Given the description of an element on the screen output the (x, y) to click on. 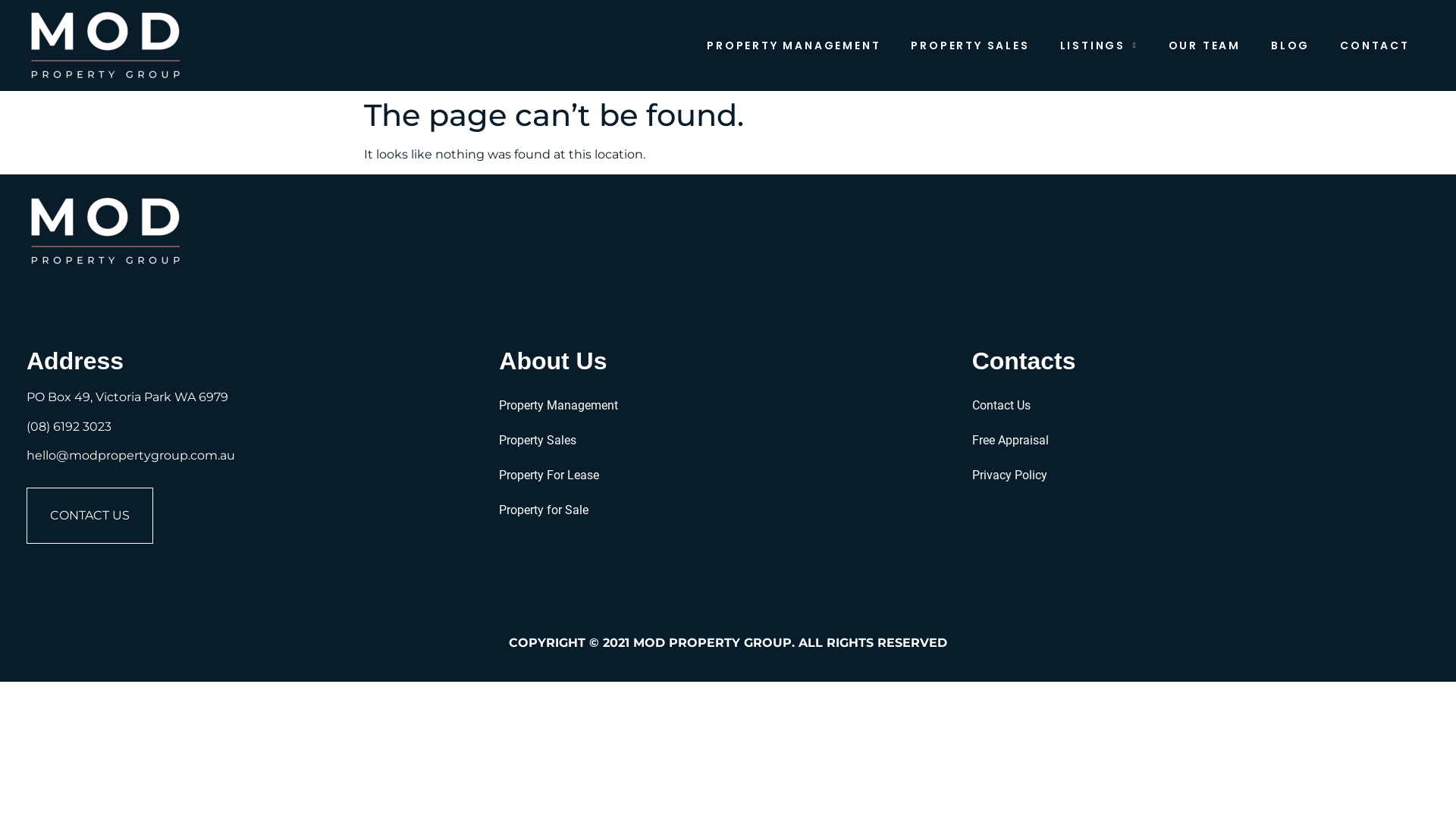
Property For Lease Element type: text (727, 475)
Property for Sale Element type: text (727, 509)
Free Appraisal Element type: text (1200, 440)
Property Sales Element type: text (727, 440)
CONTACT US Element type: text (89, 515)
LISTINGS Element type: text (1098, 45)
Privacy Policy Element type: text (1200, 475)
CONTACT Element type: text (1374, 45)
PROPERTY SALES Element type: text (969, 45)
PROPERTY MANAGEMENT Element type: text (793, 45)
OUR TEAM Element type: text (1204, 45)
Contact Us Element type: text (1200, 405)
Property Management Element type: text (727, 405)
BLOG Element type: text (1289, 45)
